Given the description of an element on the screen output the (x, y) to click on. 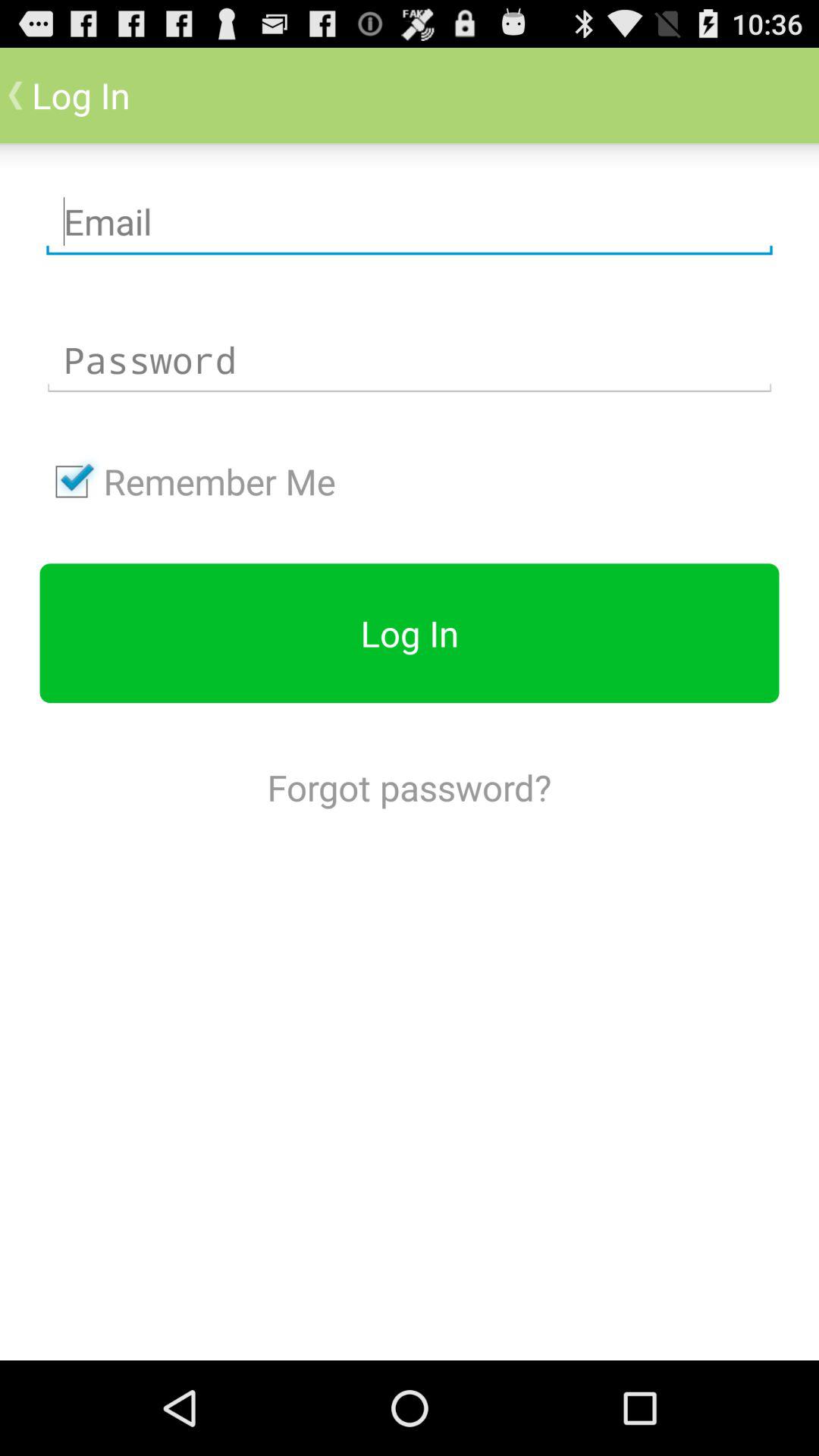
insert password (409, 360)
